Given the description of an element on the screen output the (x, y) to click on. 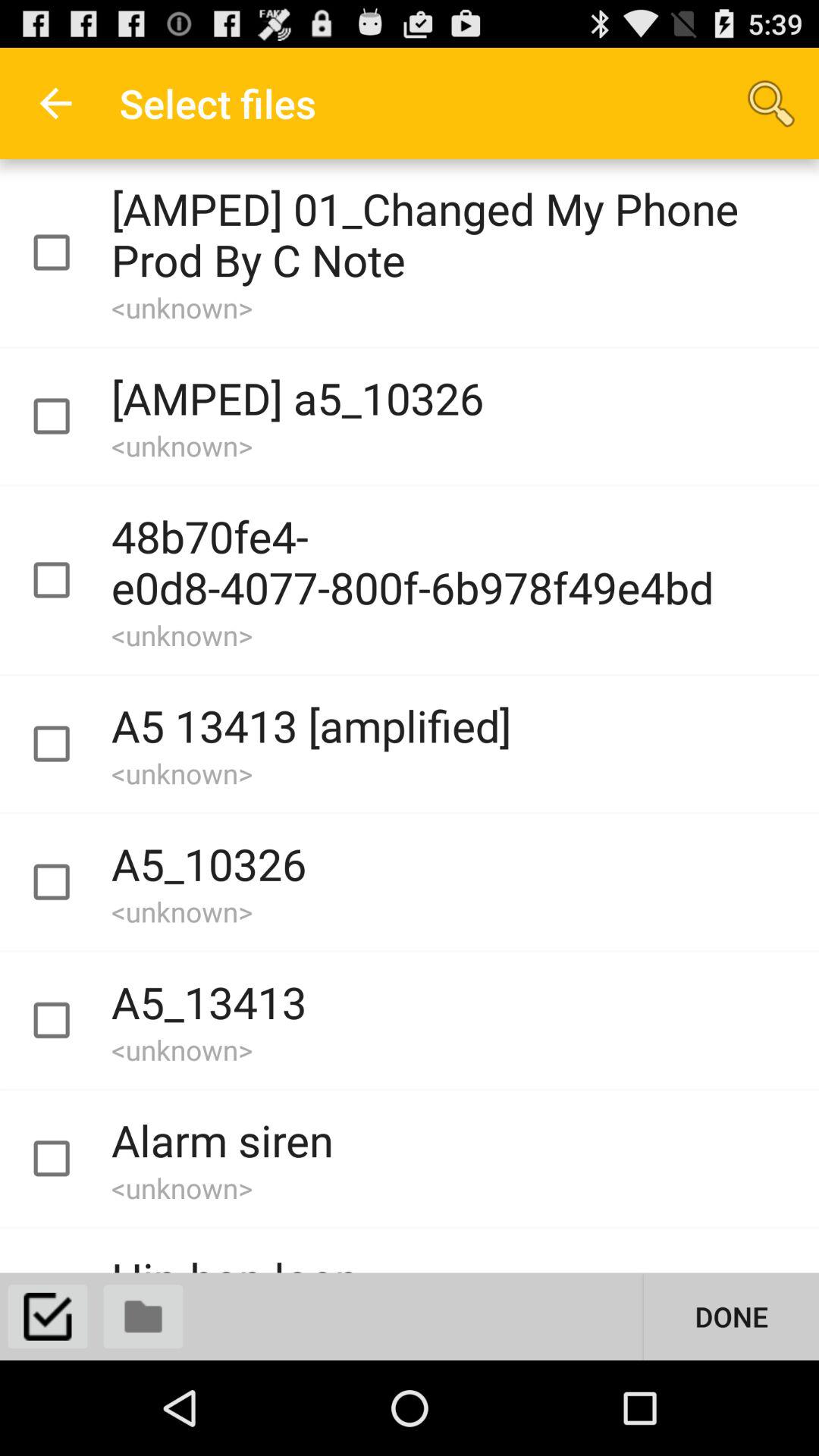
interactive check (65, 1158)
